Given the description of an element on the screen output the (x, y) to click on. 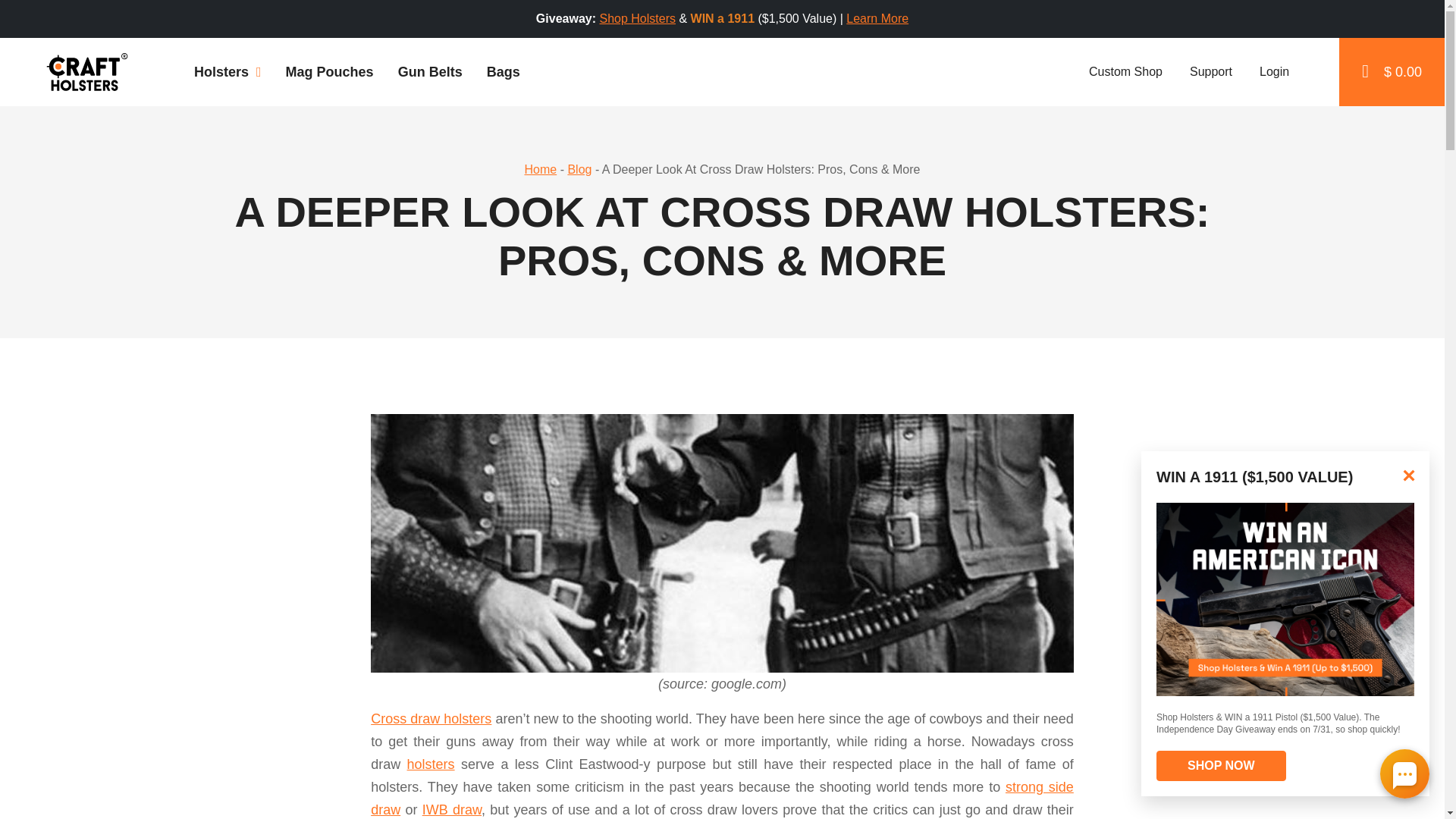
Mag Pouches (329, 71)
Shop Holsters (636, 18)
Holsters (227, 71)
strong side draw (722, 798)
Gun Belts (429, 71)
Learn More (876, 18)
holsters (430, 764)
Bags (503, 71)
IWB draw (451, 809)
Support (1209, 71)
Login (1272, 71)
Cross draw holsters (431, 718)
Home (540, 169)
Custom Shop (1124, 71)
Blog (579, 169)
